Given the description of an element on the screen output the (x, y) to click on. 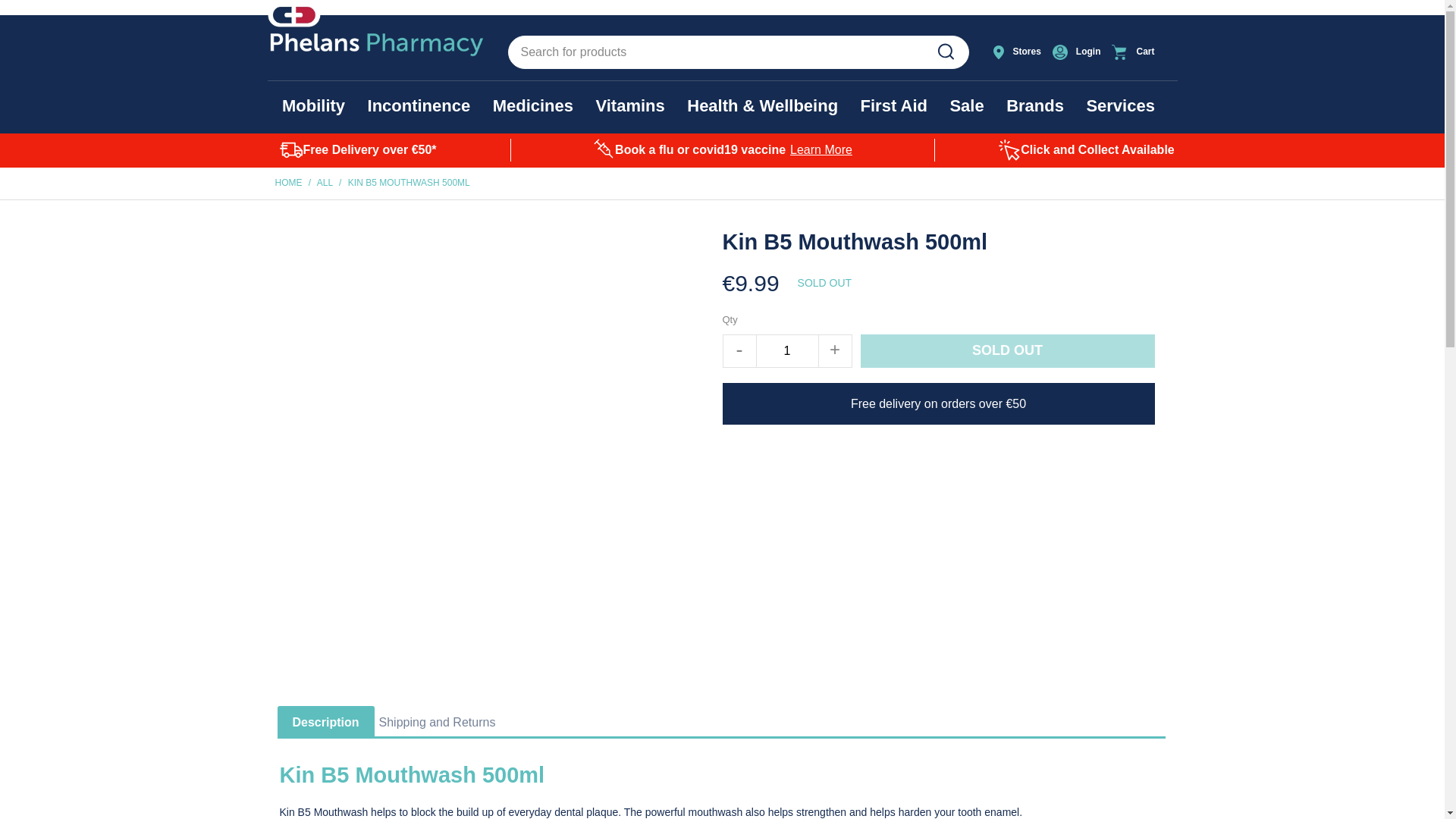
Medicines (533, 105)
76F589C6-0E18-4499-82DD-1BC7DC7F63B1 (945, 51)
Cart (1140, 52)
1 (786, 350)
Incontinence (419, 105)
Login (1078, 52)
All (325, 182)
Stores (1017, 52)
Phelan's Pharmacy (288, 182)
Mobility (313, 105)
